Given the description of an element on the screen output the (x, y) to click on. 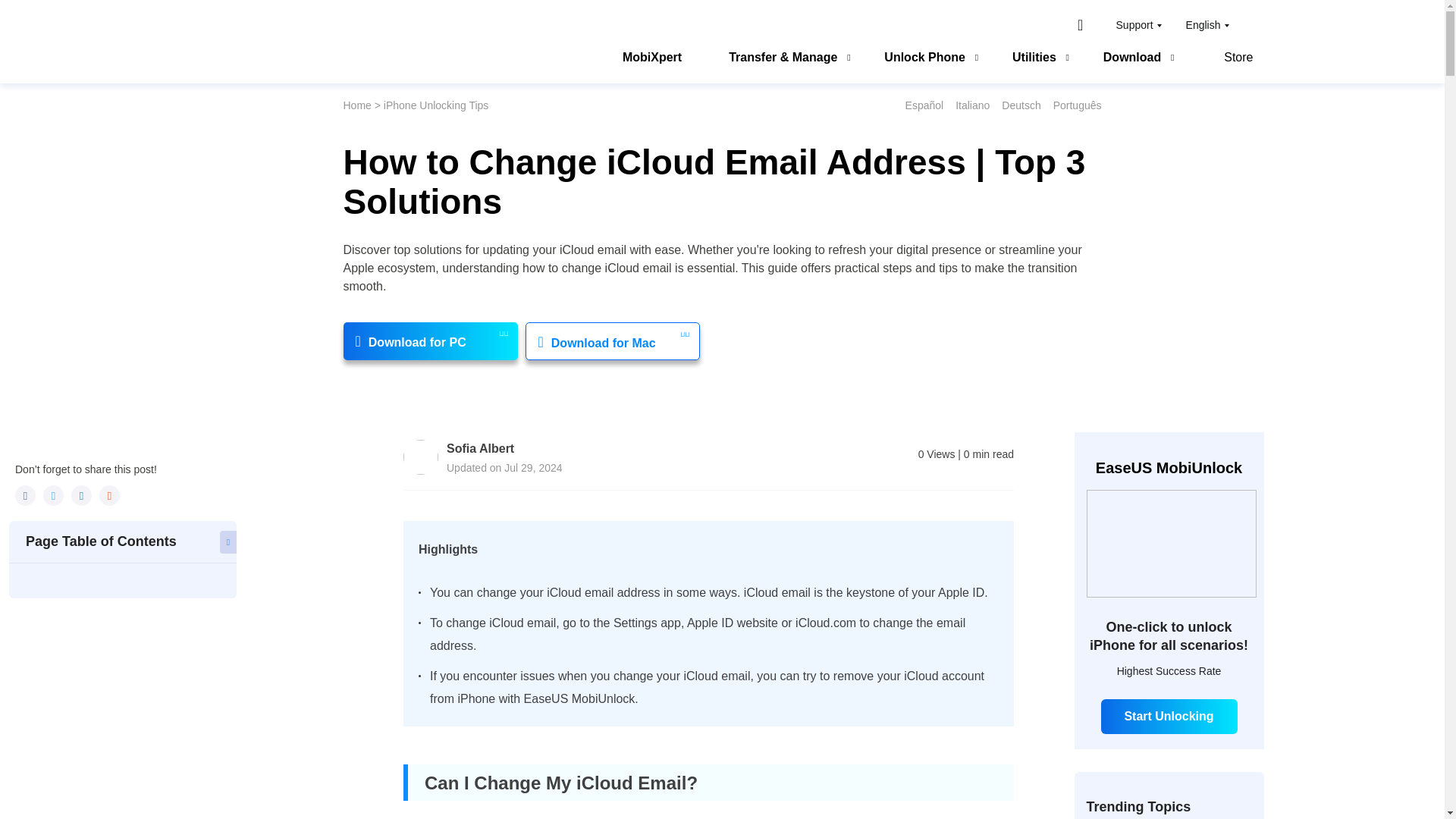
iPhone Unlocking Tips (436, 105)
MobiXpert (651, 59)
Home (356, 105)
  Store (1228, 59)
